Given the description of an element on the screen output the (x, y) to click on. 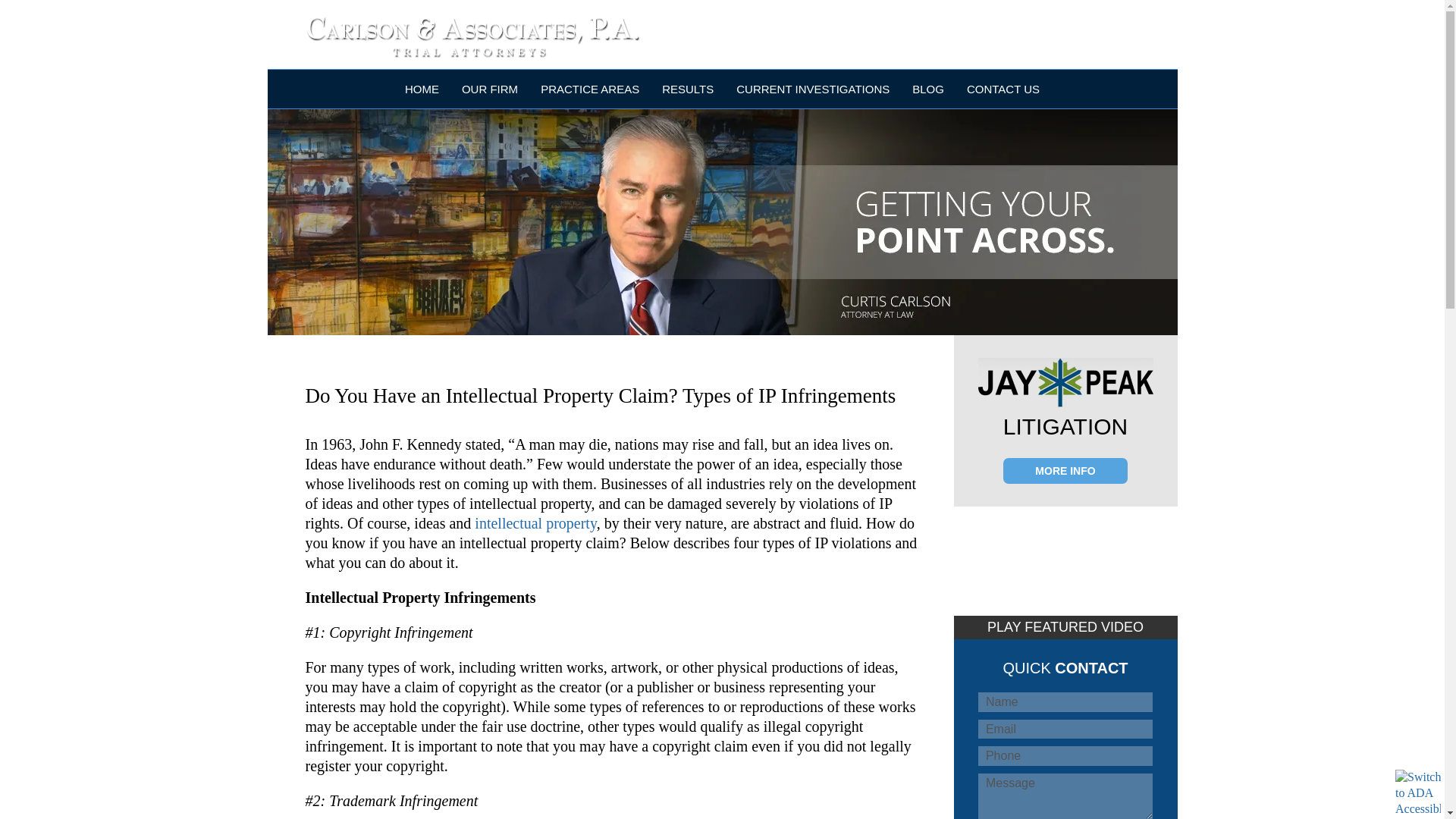
OUR FIRM (489, 88)
Phone (1065, 755)
Email (1065, 729)
CURRENT INVESTIGATIONS (812, 88)
PRACTICE AREAS (589, 88)
BLOG (928, 88)
HOME (421, 88)
Name (1065, 701)
Jay Peak (1065, 382)
RESULTS (686, 88)
